Given the description of an element on the screen output the (x, y) to click on. 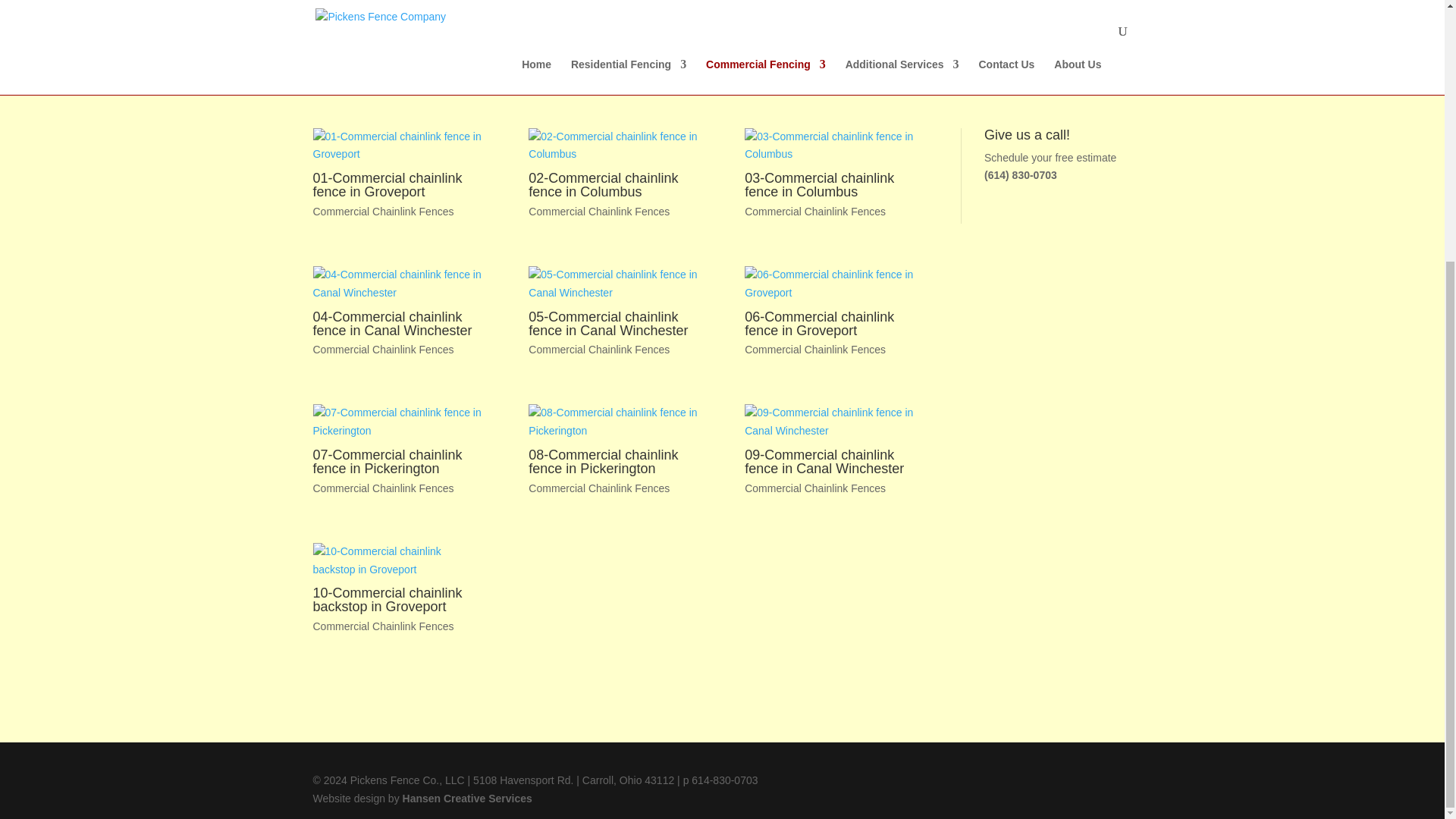
Commercial Chainlink Fences (382, 488)
Commercial Chainlink Fences (598, 349)
05-Commercial chainlink fence in Canal Winchester (607, 323)
Commercial Chainlink Fences (382, 349)
02-Commercial chainlink fence in Columbus (603, 184)
08-Commercial chainlink fence in Pickerington (603, 461)
Commercial Chainlink Fences (382, 211)
Commercial Chainlink Fences (382, 211)
Commercial Chainlink Fences (598, 211)
Commercial Chainlink Fences (814, 211)
Commercial Chainlink Fences (814, 349)
03-Commercial chainlink fence in Columbus (818, 184)
04-Commercial chainlink fence in Canal Winchester (392, 323)
02-Commercial chainlink fence in Columbus (613, 145)
03-Commercial chainlink fence in Columbus (829, 145)
